Given the description of an element on the screen output the (x, y) to click on. 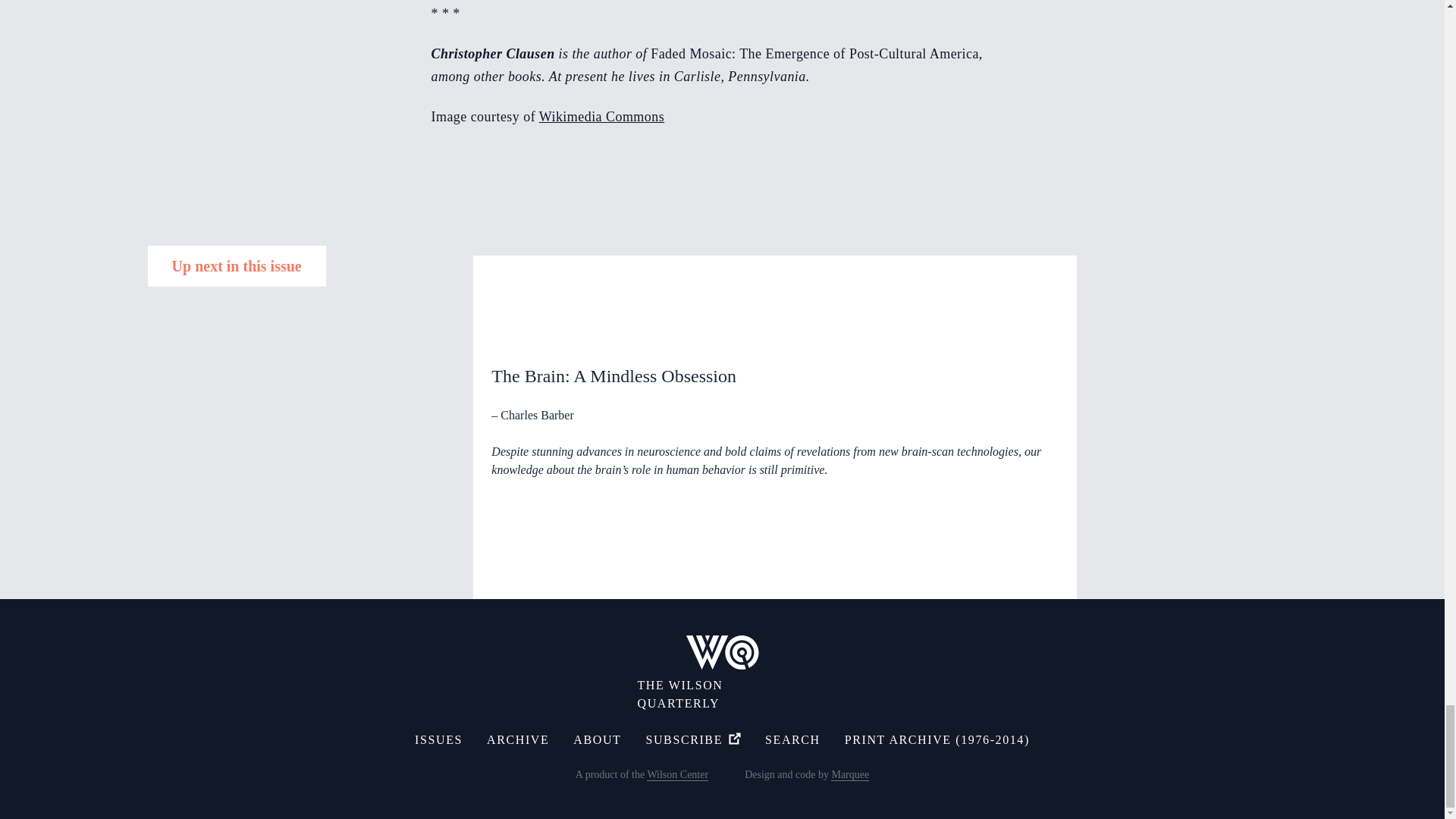
ARCHIVE (517, 740)
SEARCH (793, 740)
Marquee (850, 775)
ABOUT (597, 740)
Wikimedia Commons (600, 116)
null (600, 116)
Wilson Center (676, 775)
SUBSCRIBE (693, 740)
ISSUES (438, 740)
THE WILSON QUARTERLY (721, 673)
